Given the description of an element on the screen output the (x, y) to click on. 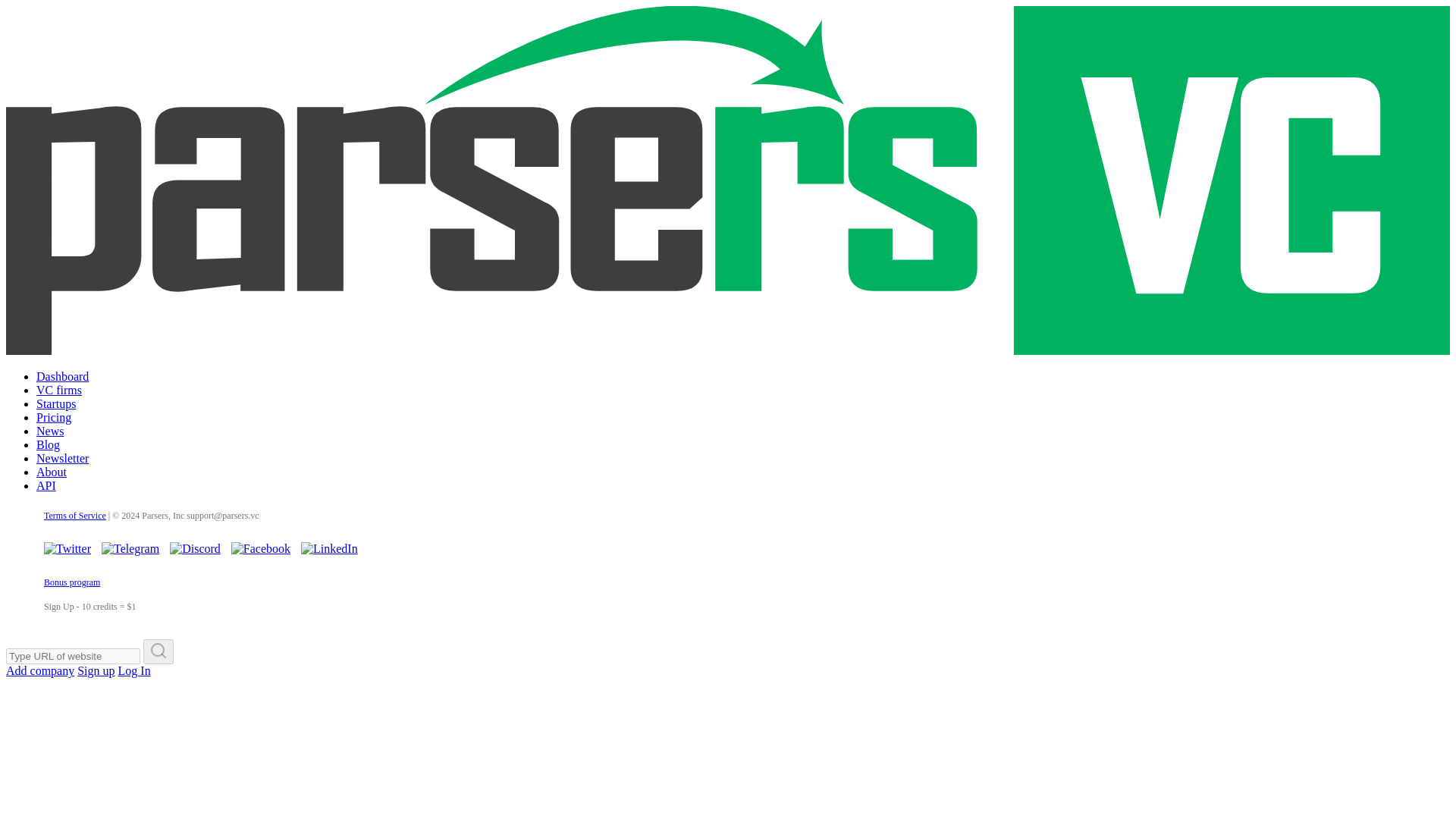
News (50, 431)
API (46, 485)
VC firms (58, 390)
Dashboard (62, 376)
Blog (47, 444)
Bonus program (71, 582)
Newsletter (62, 458)
About (51, 472)
Pricing (53, 417)
Terms of Service (74, 515)
